Given the description of an element on the screen output the (x, y) to click on. 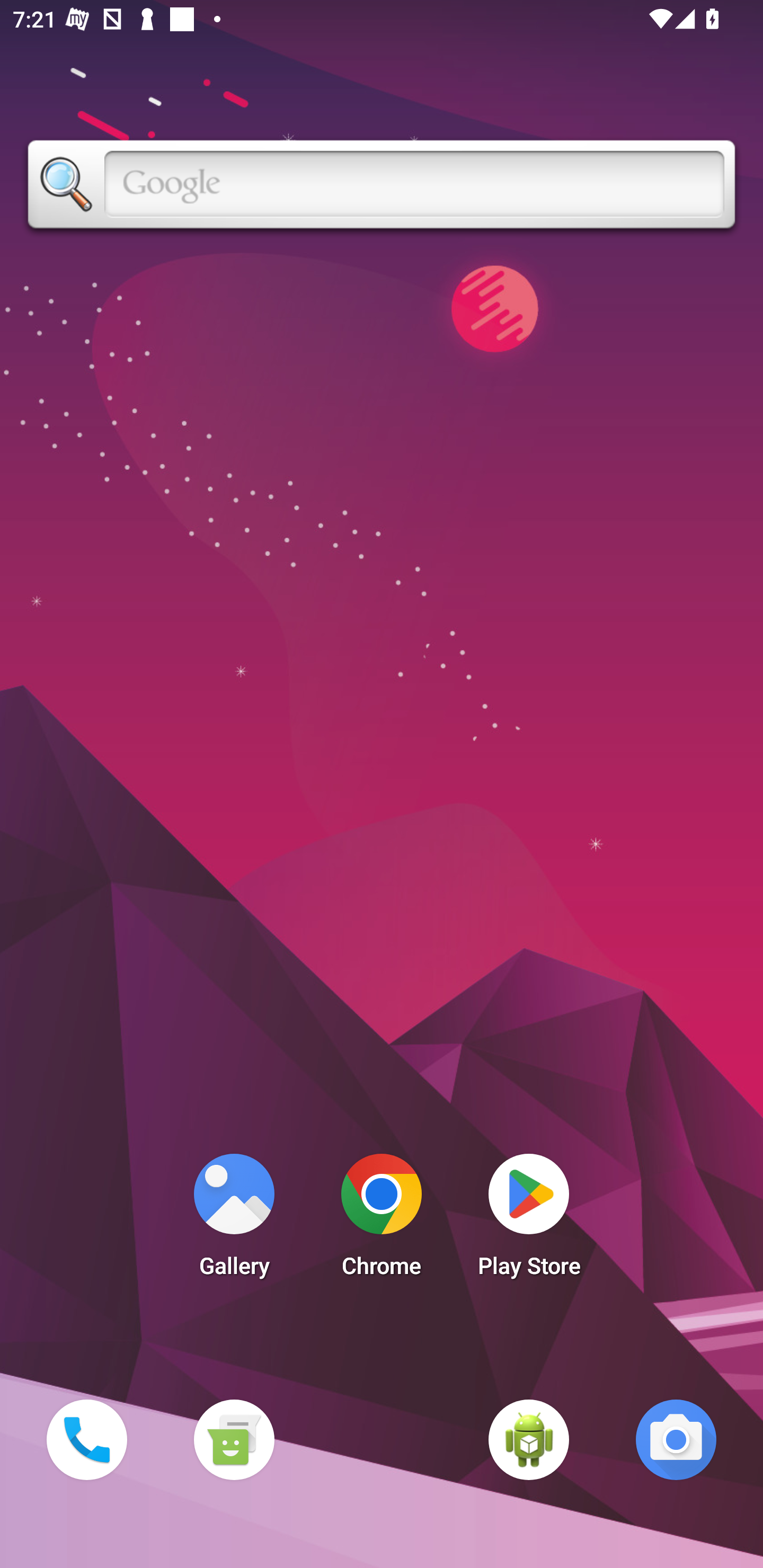
Gallery (233, 1220)
Chrome (381, 1220)
Play Store (528, 1220)
Phone (86, 1439)
Messaging (233, 1439)
WebView Browser Tester (528, 1439)
Camera (676, 1439)
